Given the description of an element on the screen output the (x, y) to click on. 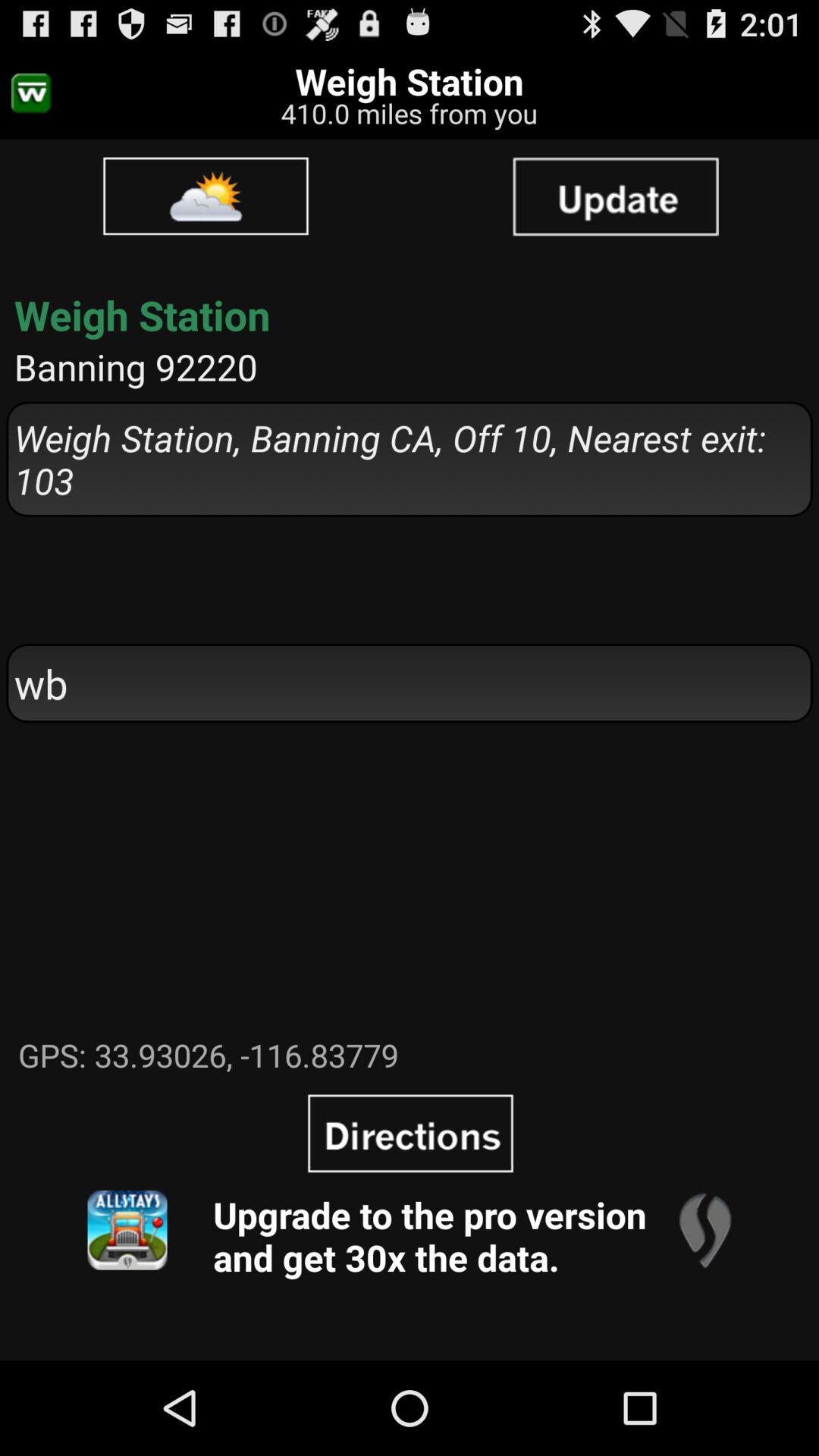
click app next to upgrade to the icon (127, 1230)
